Given the description of an element on the screen output the (x, y) to click on. 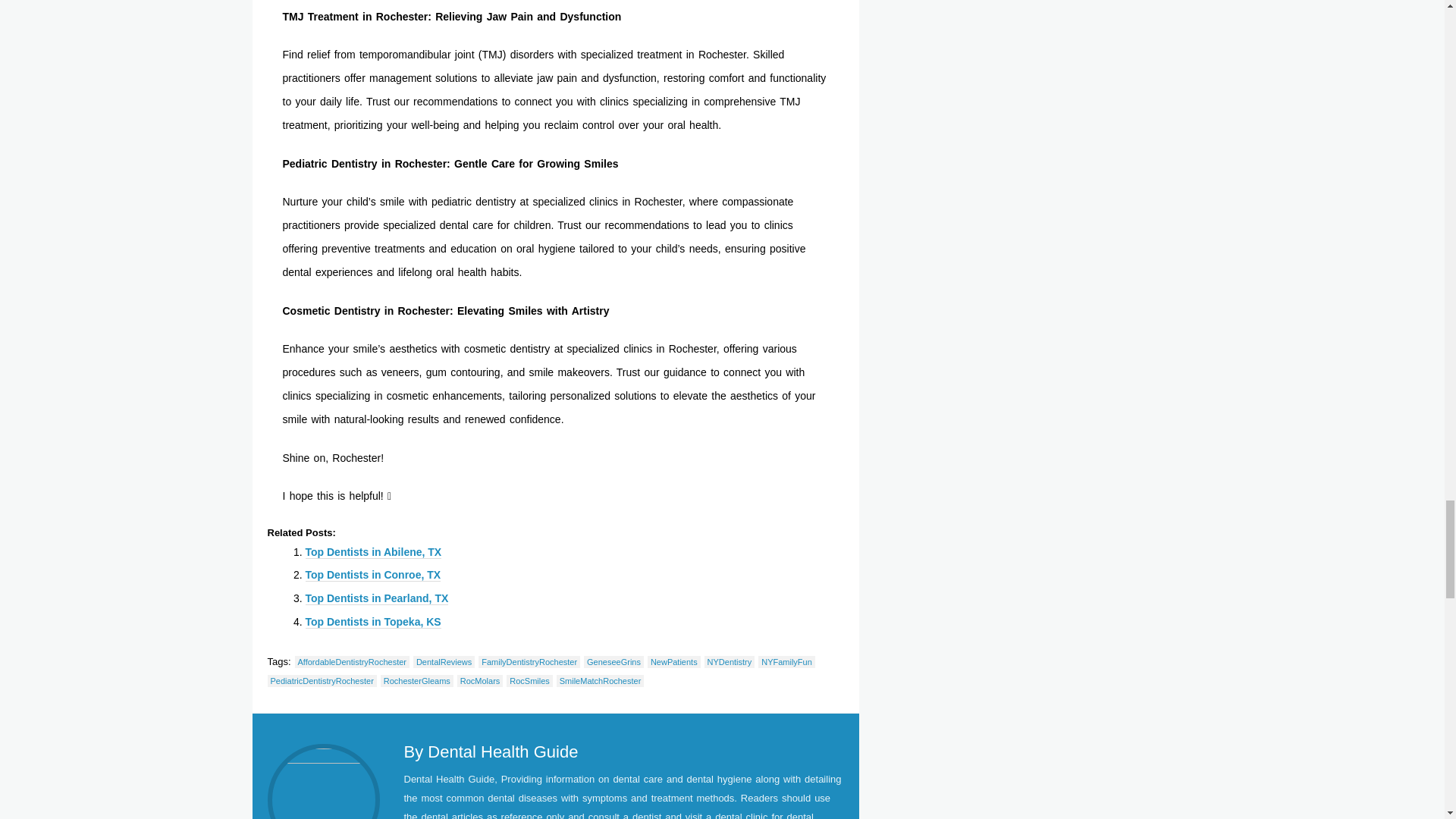
Top Dentists in Pearland, TX (376, 598)
SmileMatchRochester (600, 680)
NewPatients (673, 662)
FamilyDentistryRochester (529, 662)
RochesterGleams (416, 680)
Top Dentists in Topeka, KS (372, 621)
Top Dentists in Abilene, TX (372, 552)
DentalReviews (443, 662)
RocSmiles (529, 680)
RocMolars (480, 680)
